Given the description of an element on the screen output the (x, y) to click on. 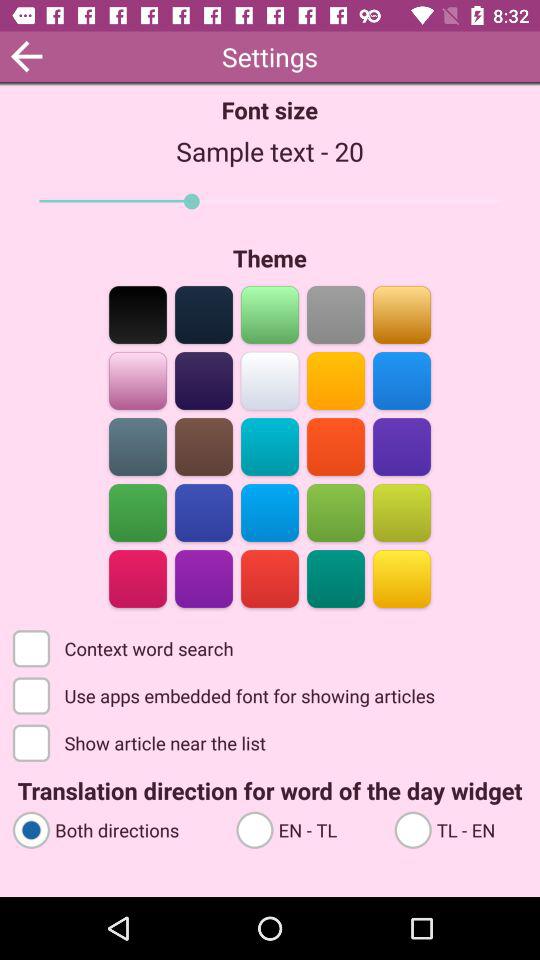
change app theme (335, 379)
